Given the description of an element on the screen output the (x, y) to click on. 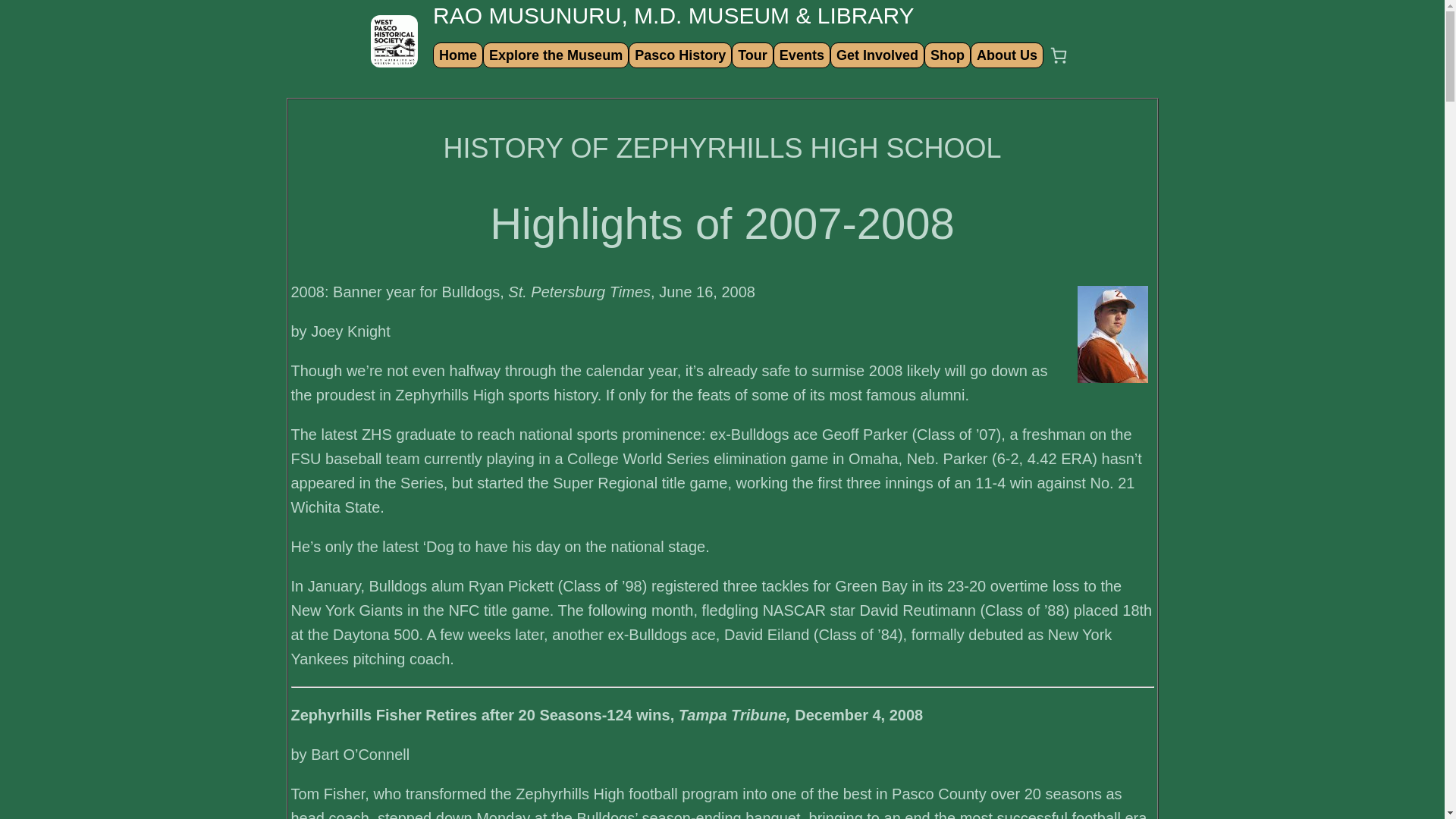
Explore the Museum (555, 55)
Home (457, 55)
Shop (946, 55)
About Us (1006, 55)
Tour (752, 55)
Events (801, 55)
Get Involved (877, 55)
Pasco History (679, 55)
